Given the description of an element on the screen output the (x, y) to click on. 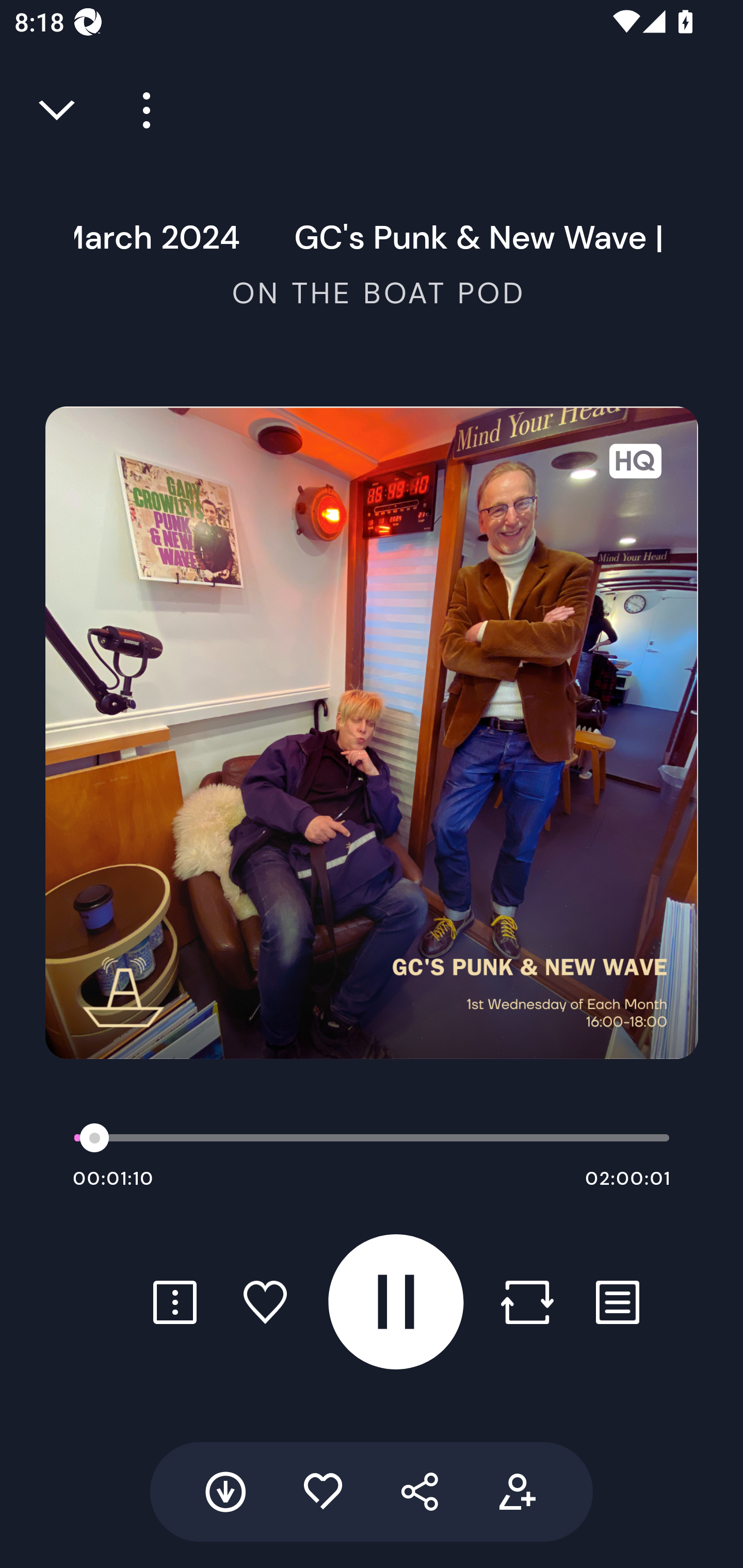
Close full player (58, 110)
Player more options button (139, 110)
Repost button (527, 1301)
